Given the description of an element on the screen output the (x, y) to click on. 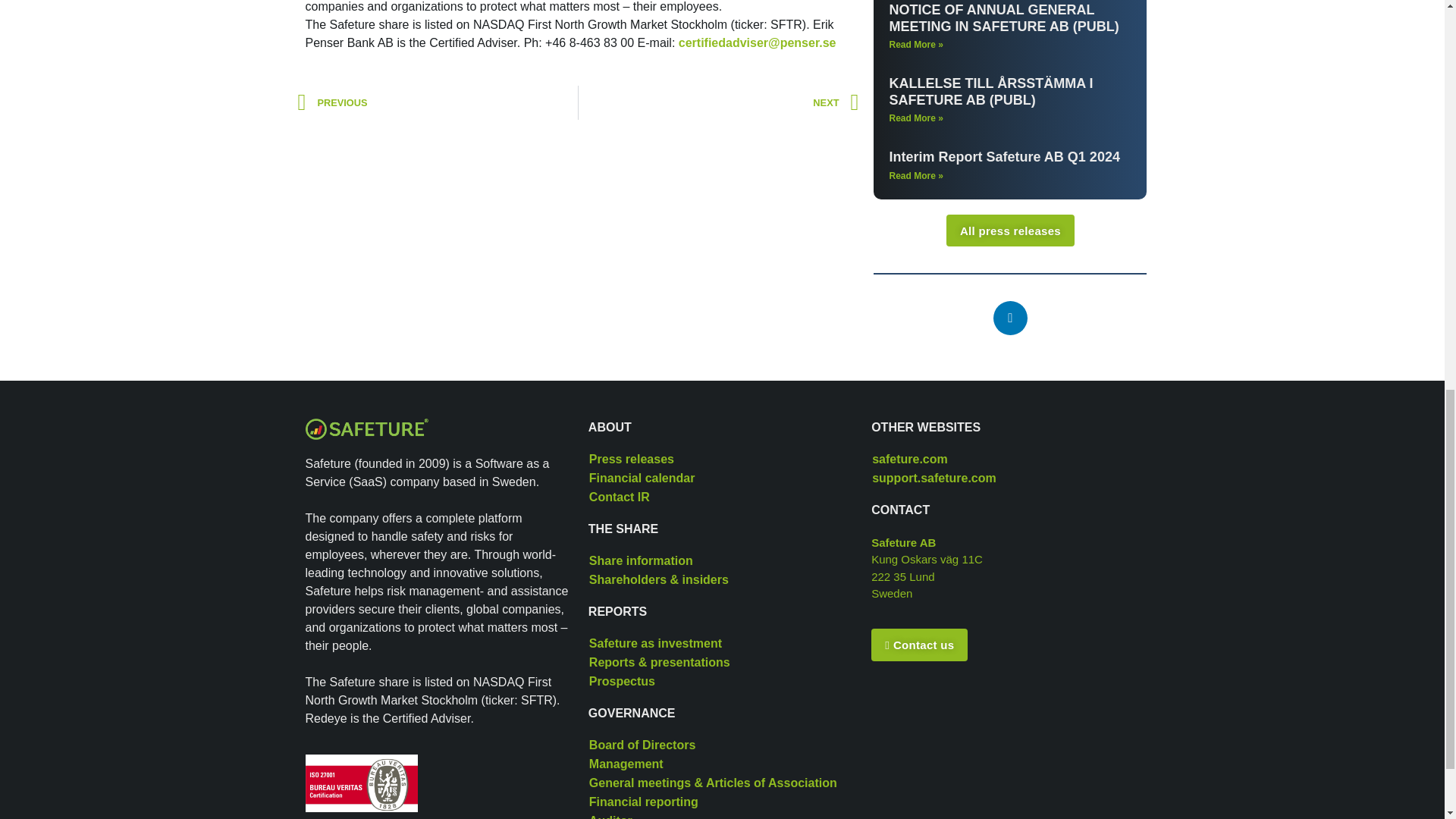
PREVIOUS (436, 102)
